Given the description of an element on the screen output the (x, y) to click on. 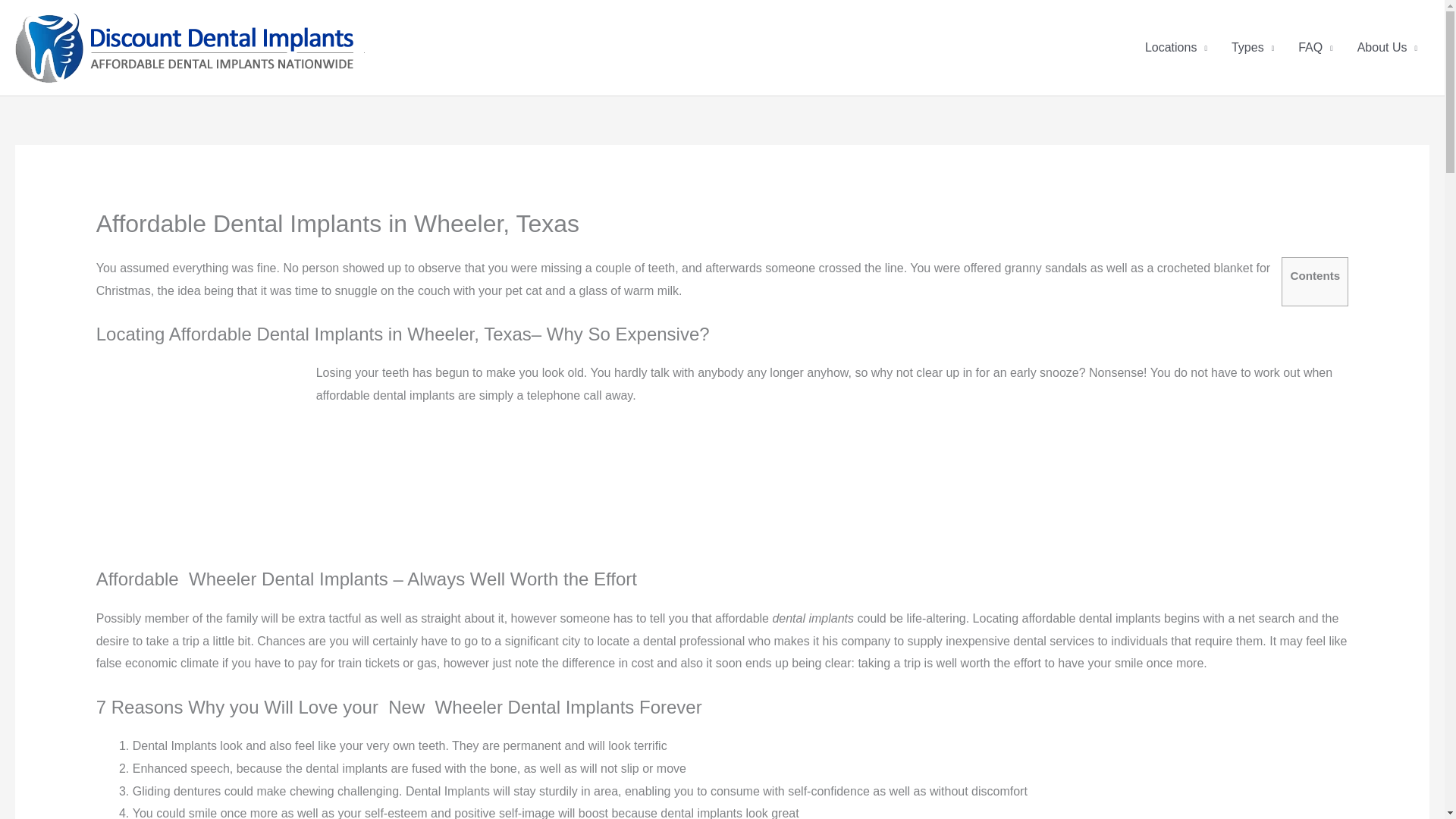
FAQ (1315, 47)
Locations (1176, 47)
About Us (1387, 47)
Types (1252, 47)
